Given the description of an element on the screen output the (x, y) to click on. 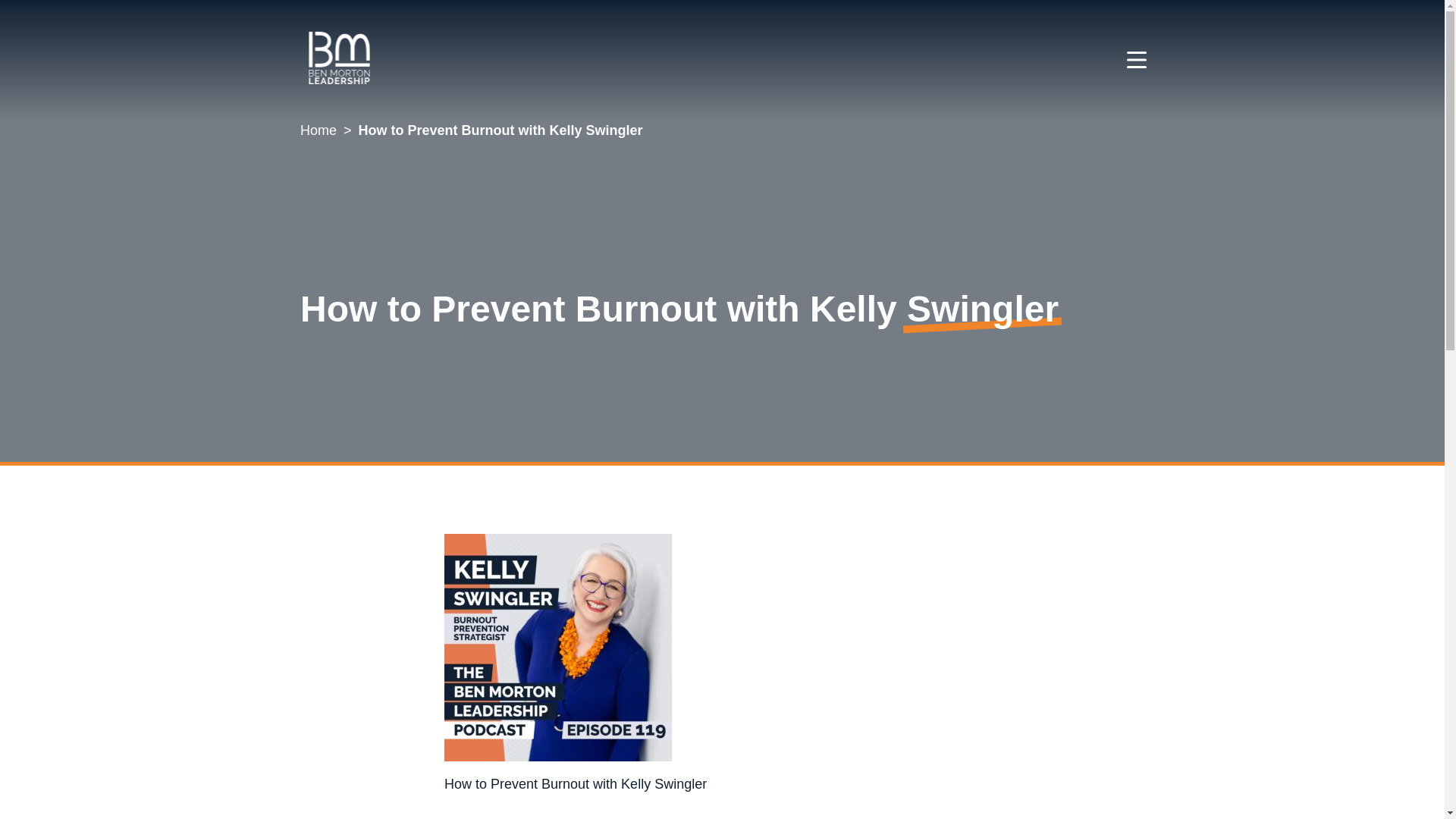
Open menu (1136, 59)
Home (317, 130)
